Given the description of an element on the screen output the (x, y) to click on. 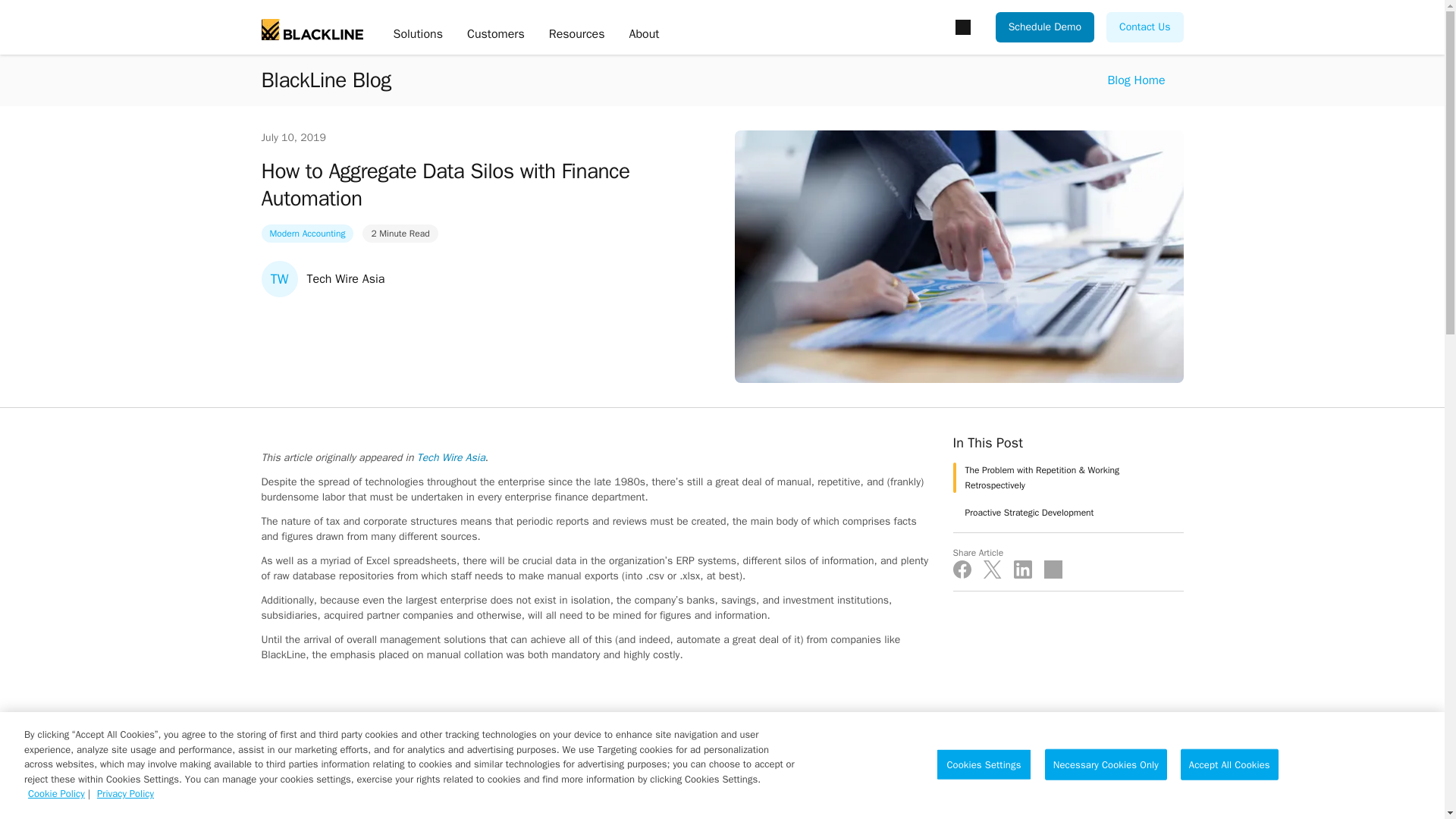
Resources (576, 34)
Schedule Demo (1044, 27)
Solutions (417, 34)
Customers (495, 34)
Contact Us (1144, 27)
Tech Wire Asia (450, 457)
Blog Home (1135, 80)
